Given the description of an element on the screen output the (x, y) to click on. 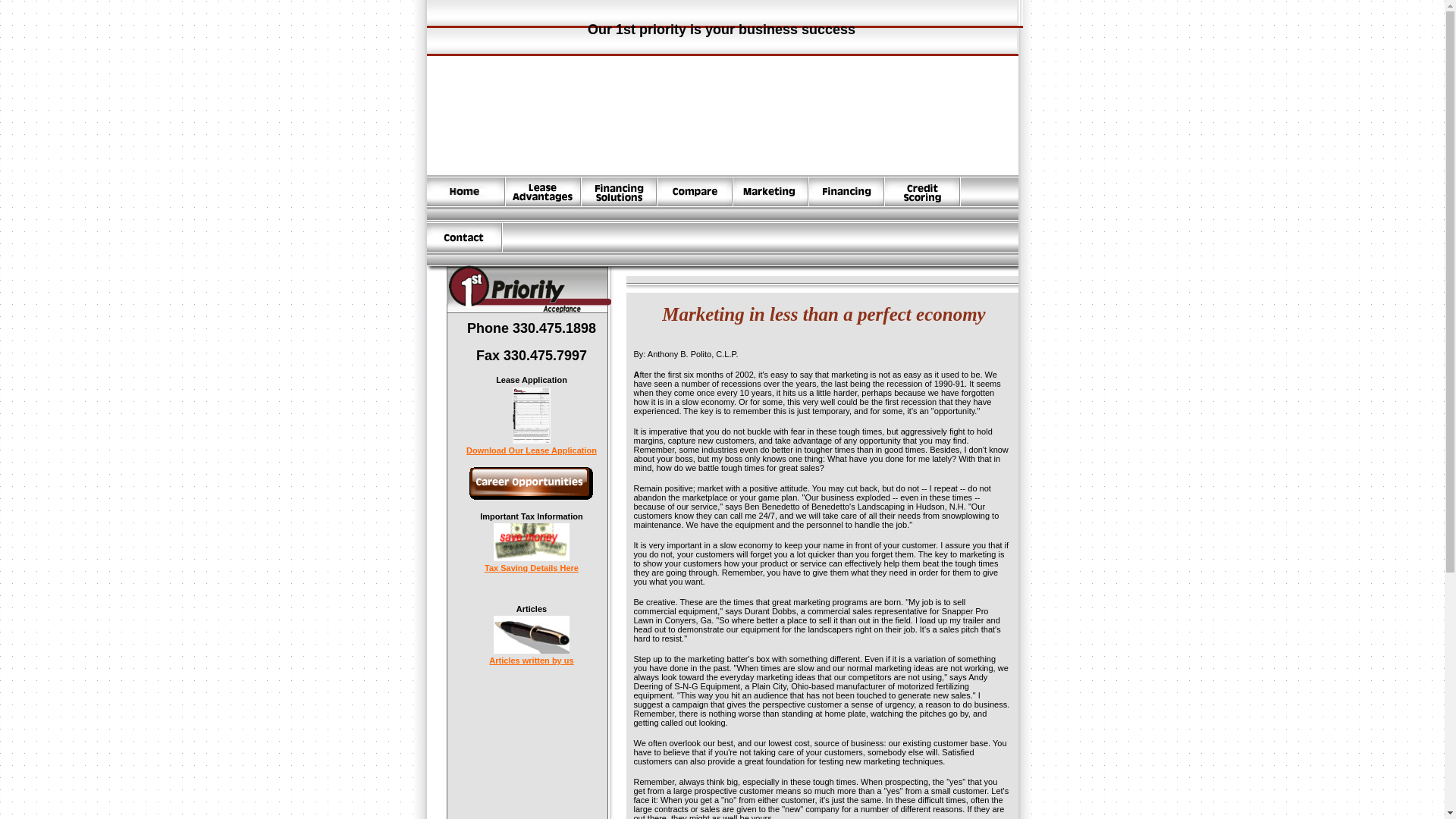
First Priority Acceptance (721, 115)
Tax Saving Details Here (531, 564)
Download Our Lease Application (530, 446)
Articles written by us (531, 656)
First Priority Acceptance (721, 110)
